Given the description of an element on the screen output the (x, y) to click on. 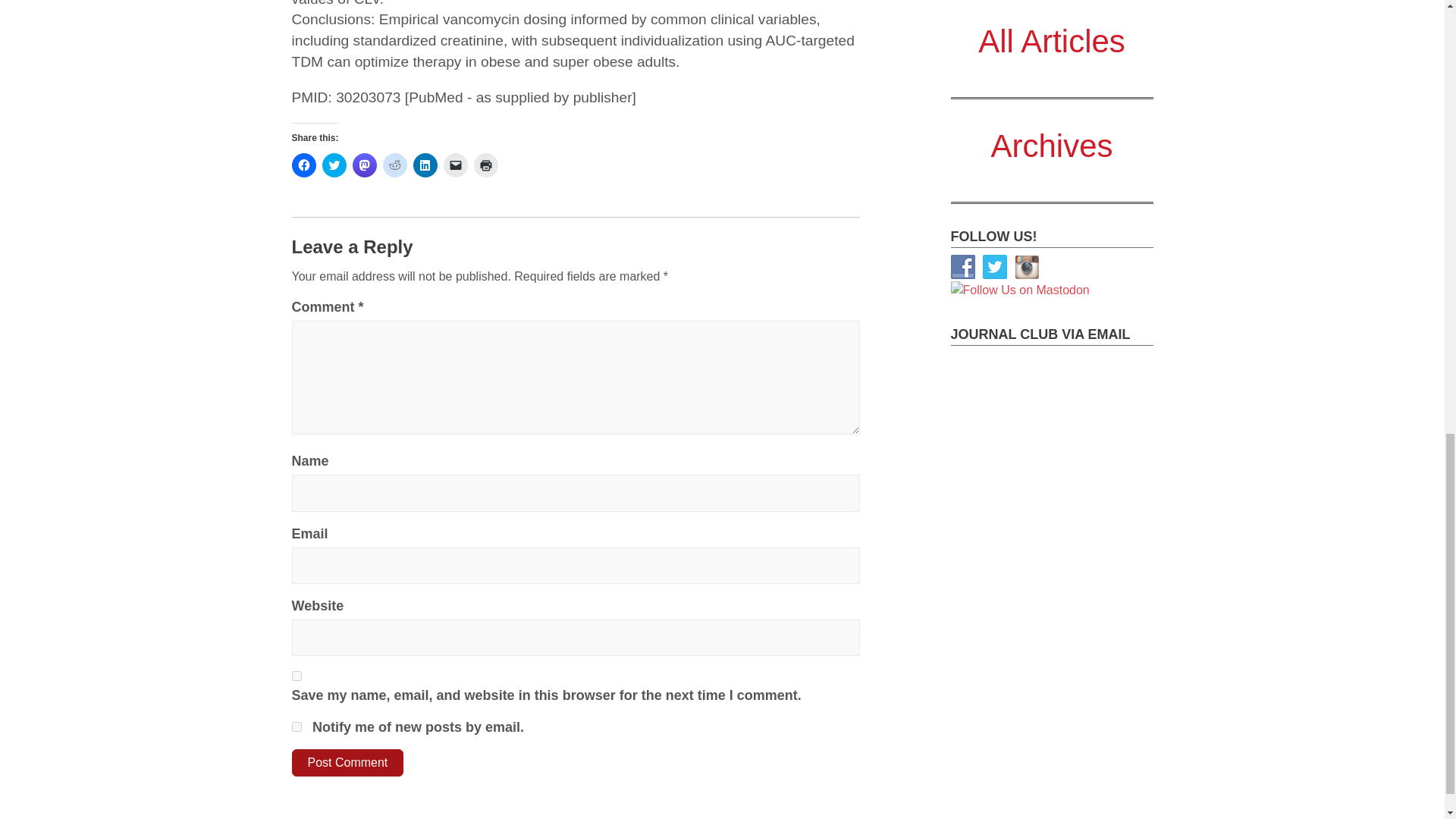
Click to share on Twitter (333, 165)
yes (296, 675)
Click to print (485, 165)
Click to share on Facebook (303, 165)
Post Comment (347, 762)
Post Comment (347, 762)
Click to share on LinkedIn (424, 165)
subscribe (296, 726)
Click to email a link to a friend (454, 165)
Click to share on Reddit (393, 165)
